Given the description of an element on the screen output the (x, y) to click on. 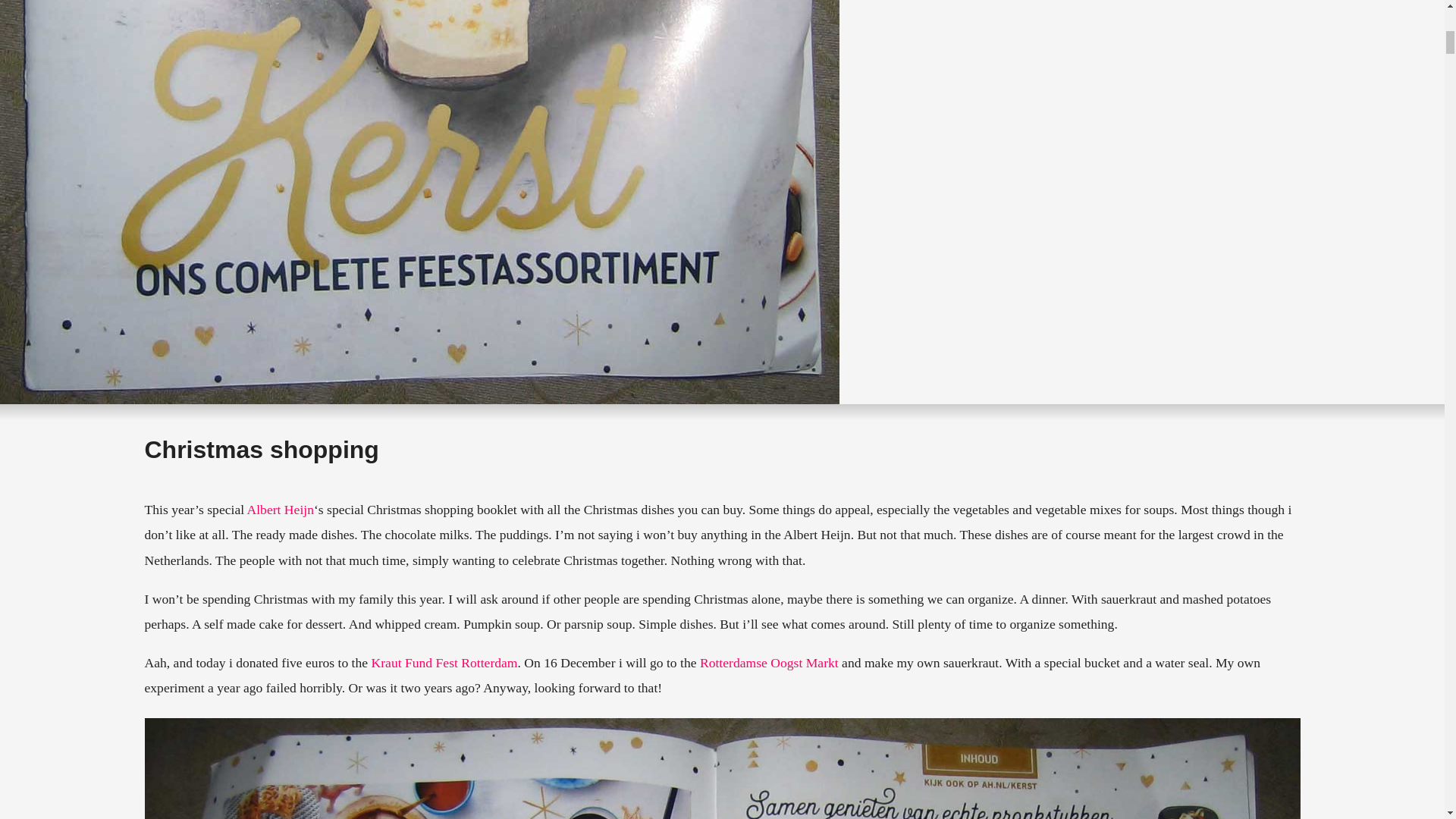
Kraut Fund Fest Rotterdam (444, 662)
Albert Heijn (280, 509)
Rotterdamse Oogst Markt (769, 662)
